Given the description of an element on the screen output the (x, y) to click on. 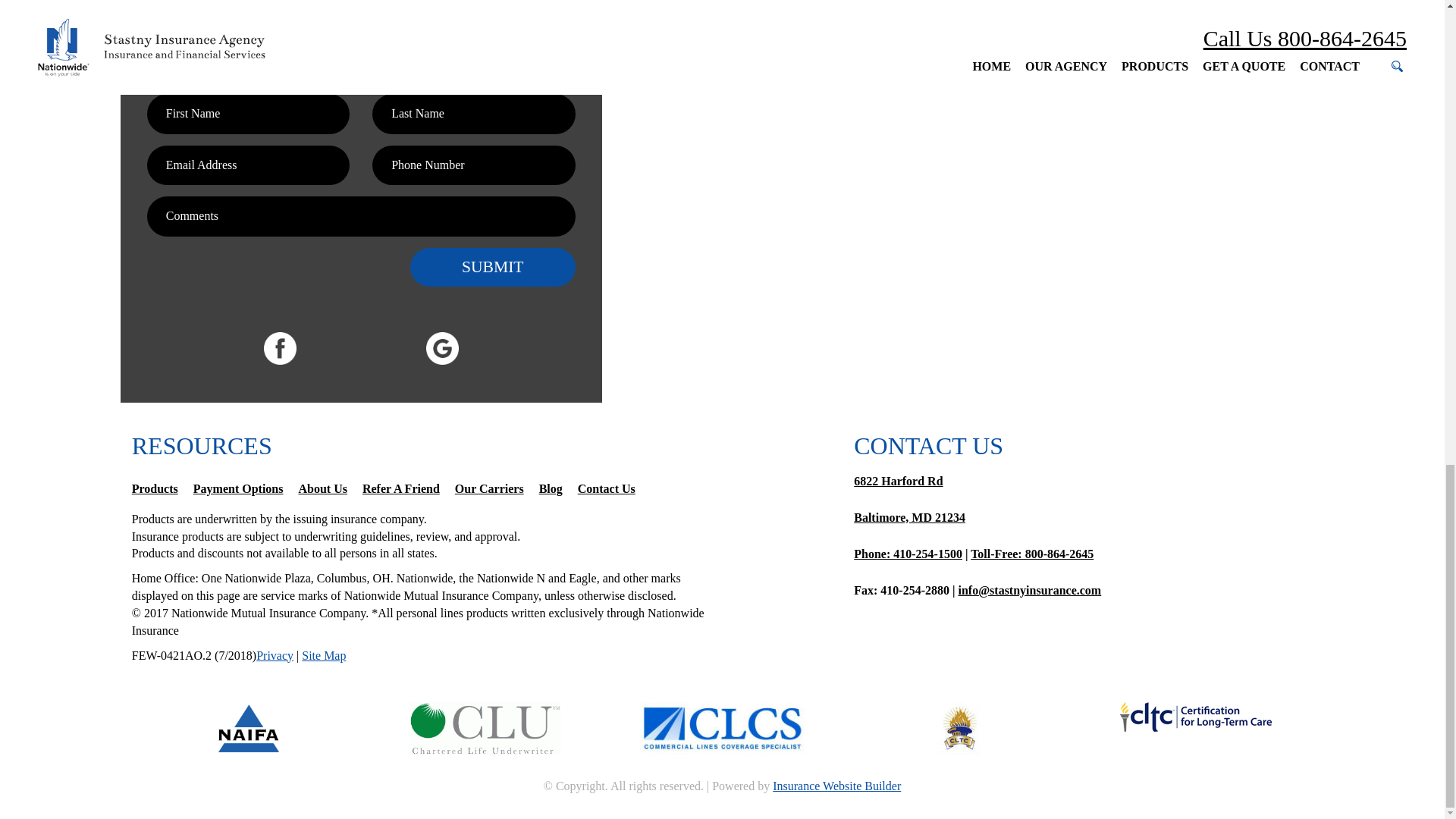
Insurance Website Builder (837, 785)
